Given the description of an element on the screen output the (x, y) to click on. 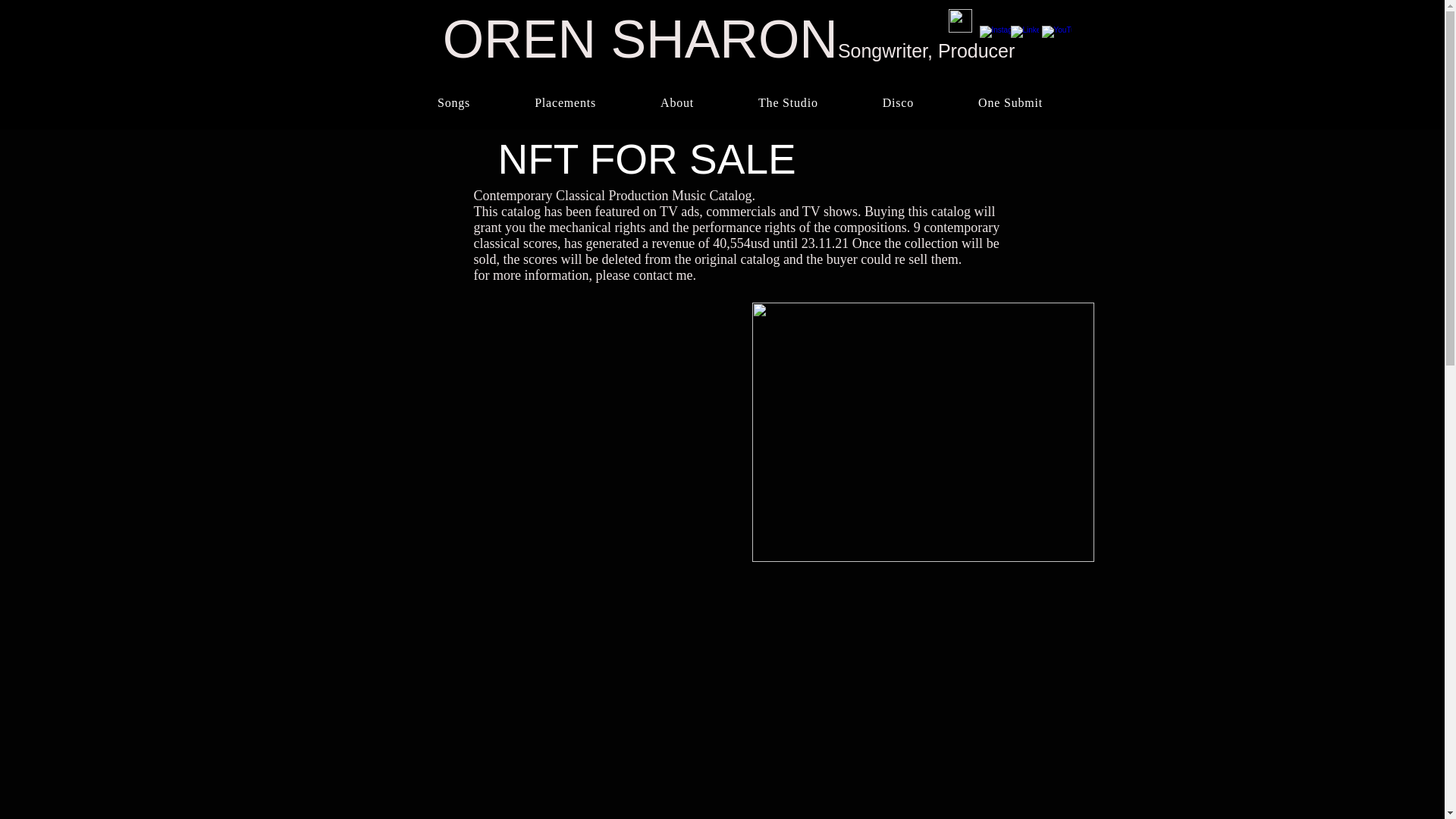
One Submit (1010, 102)
Disco (897, 102)
Songs (453, 102)
The Studio (788, 102)
feature image.jpg (923, 431)
About (677, 102)
Placements (565, 102)
